Given the description of an element on the screen output the (x, y) to click on. 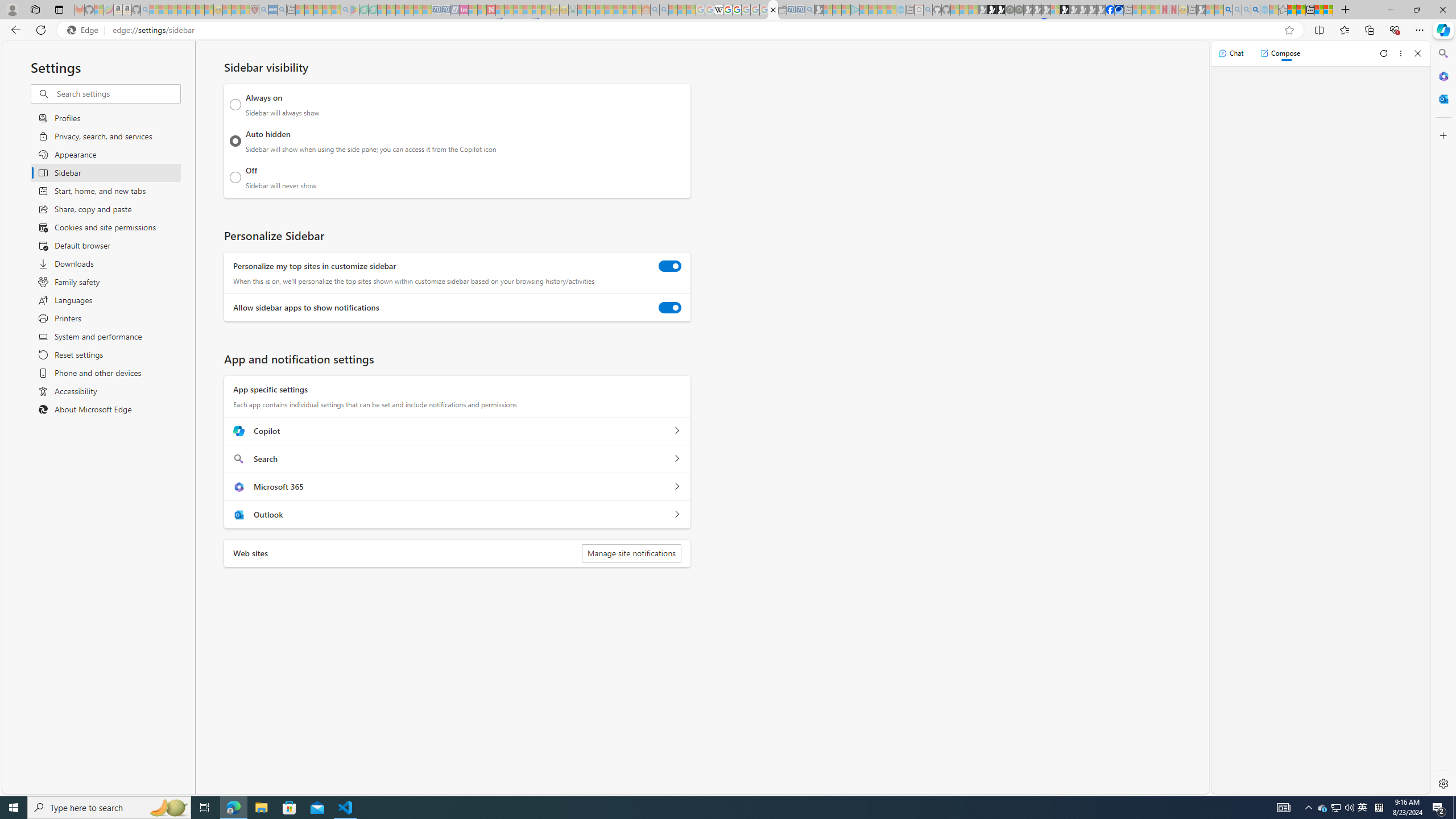
DITOGAMES AG Imprint - Sleeping (572, 9)
Play Zoo Boom in your browser | Games from Microsoft Start (991, 9)
MSN - Sleeping (1200, 9)
